Given the description of an element on the screen output the (x, y) to click on. 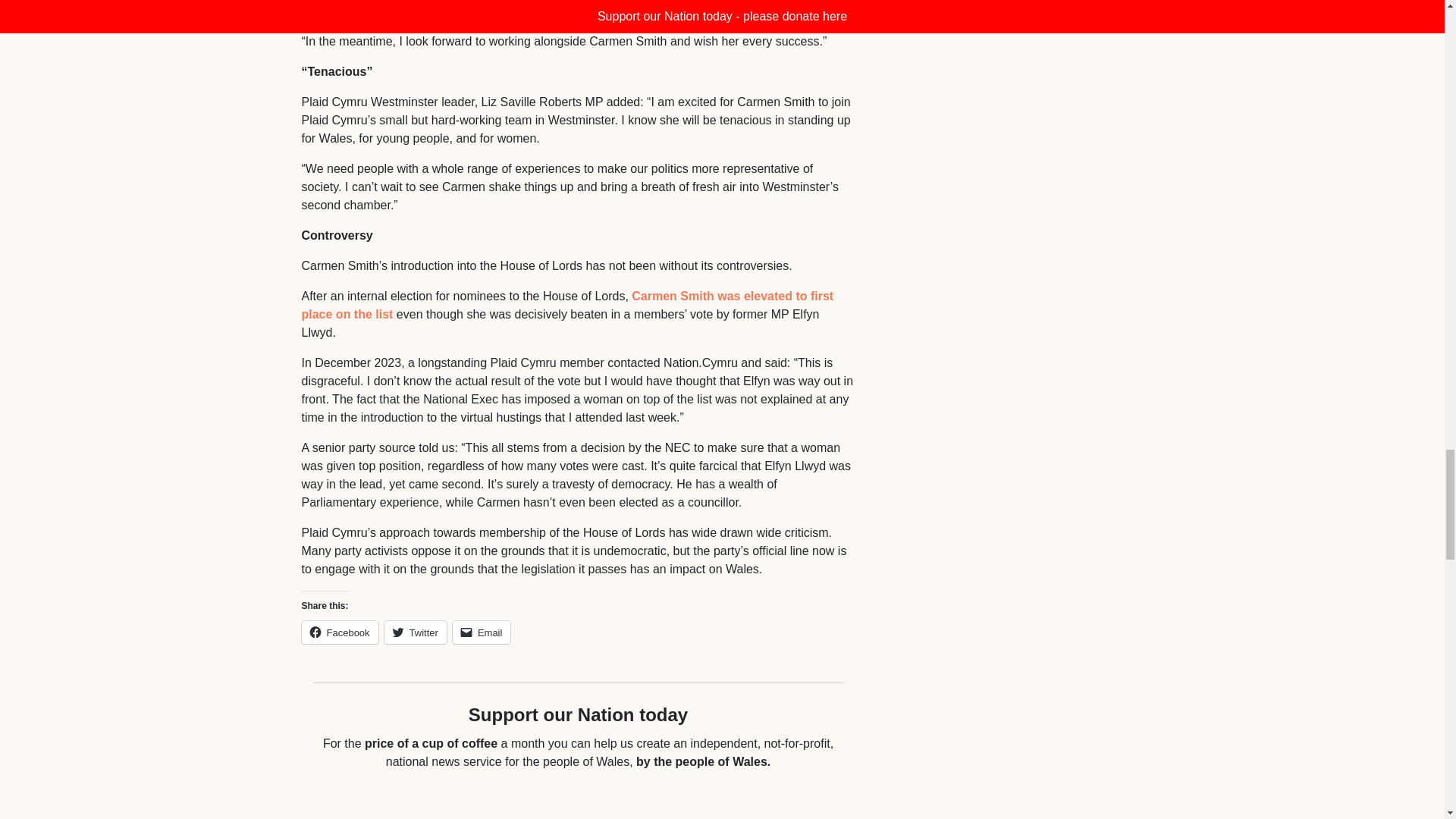
Facebook (339, 630)
Email (481, 630)
Click to email a link to a friend (481, 630)
Click to share on Facebook (339, 630)
Click to share on Twitter (415, 630)
Twitter (415, 630)
Carmen Smith was elevated to first place on the list  (567, 305)
